Given the description of an element on the screen output the (x, y) to click on. 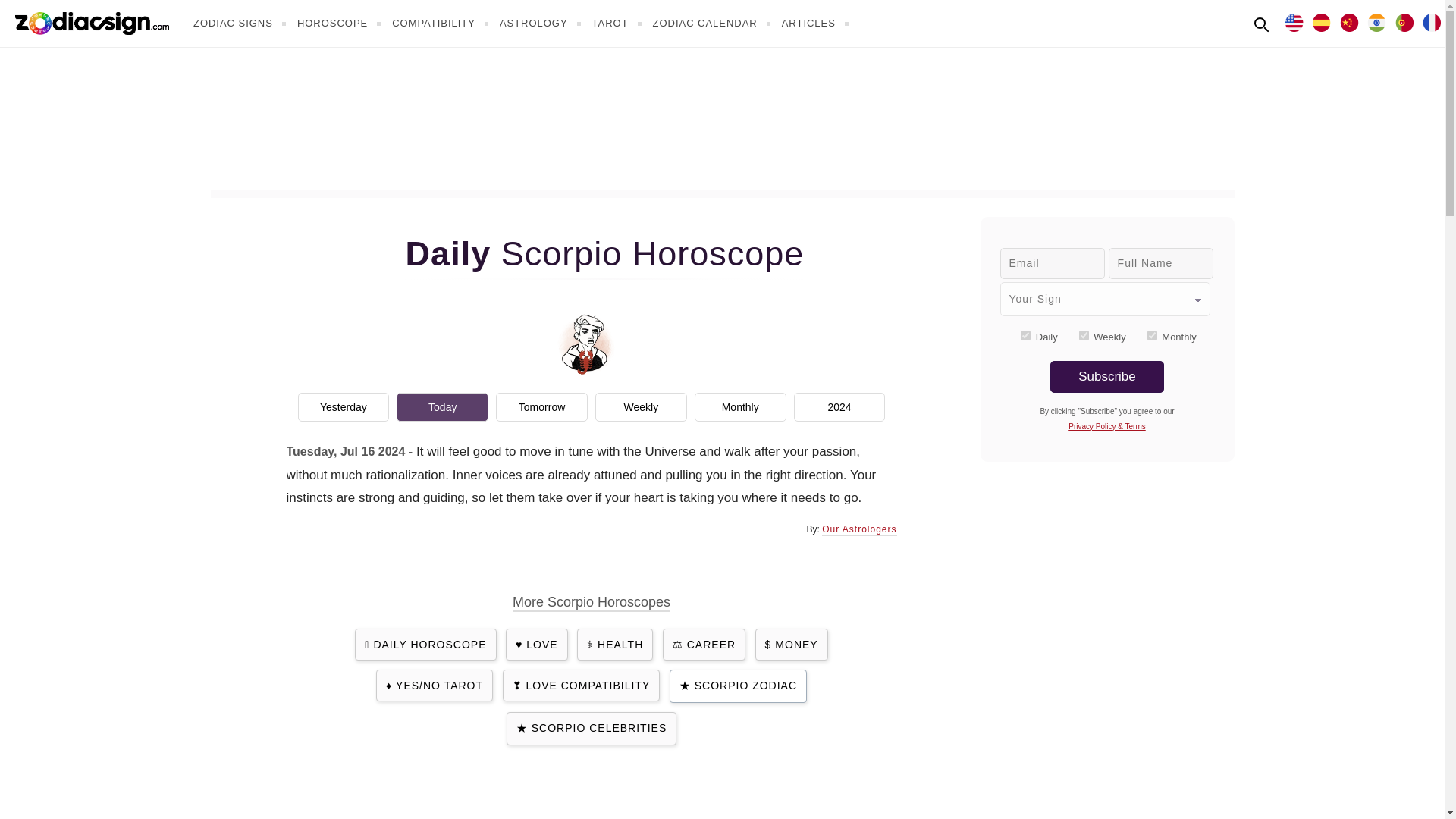
In English (1294, 21)
HOROSCOPE (341, 23)
ZODIAC SIGNS (241, 23)
monthly (1152, 335)
weekly (1083, 335)
daily (1025, 335)
